Given the description of an element on the screen output the (x, y) to click on. 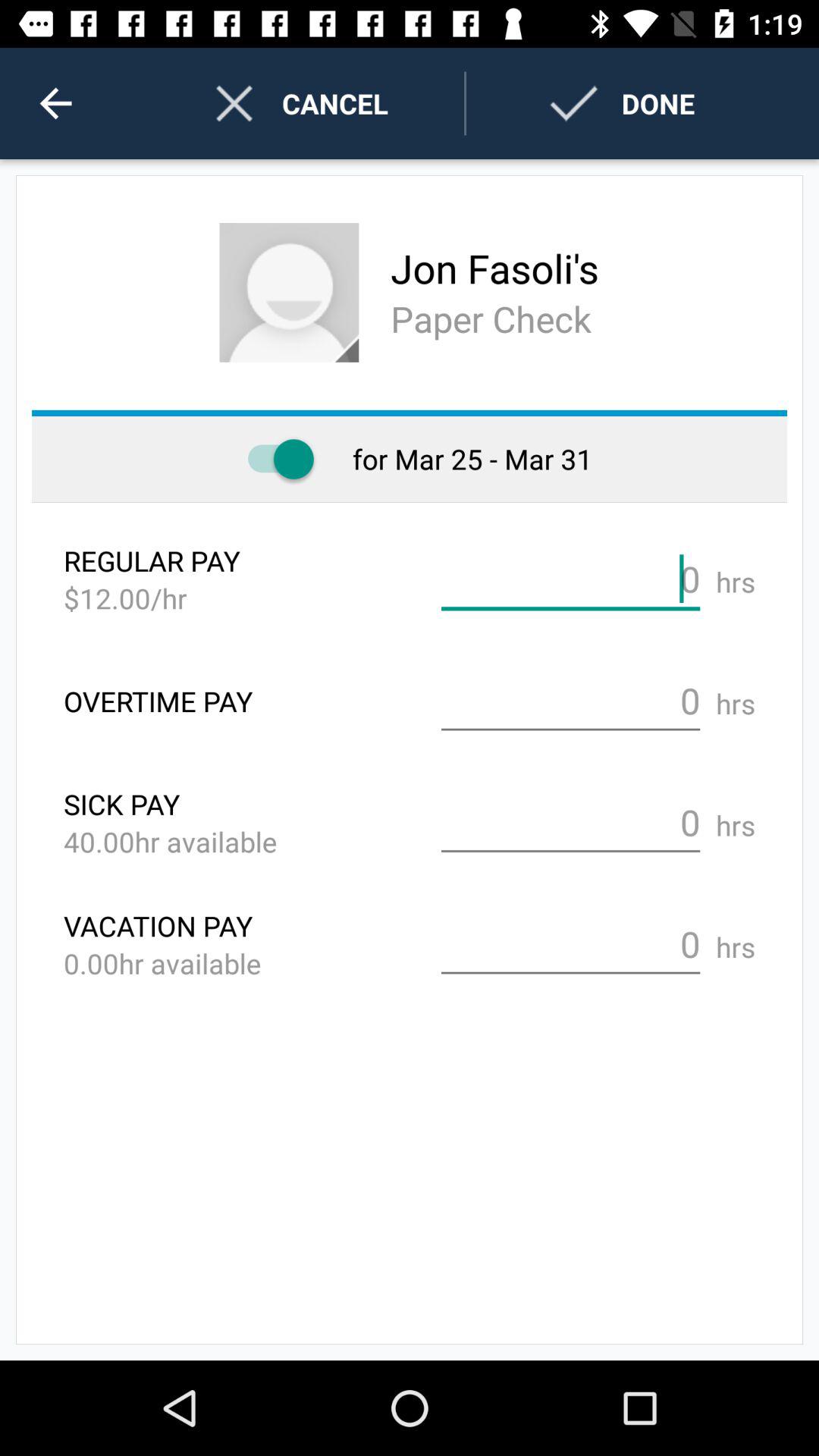
enter vacation pay hours (570, 944)
